Given the description of an element on the screen output the (x, y) to click on. 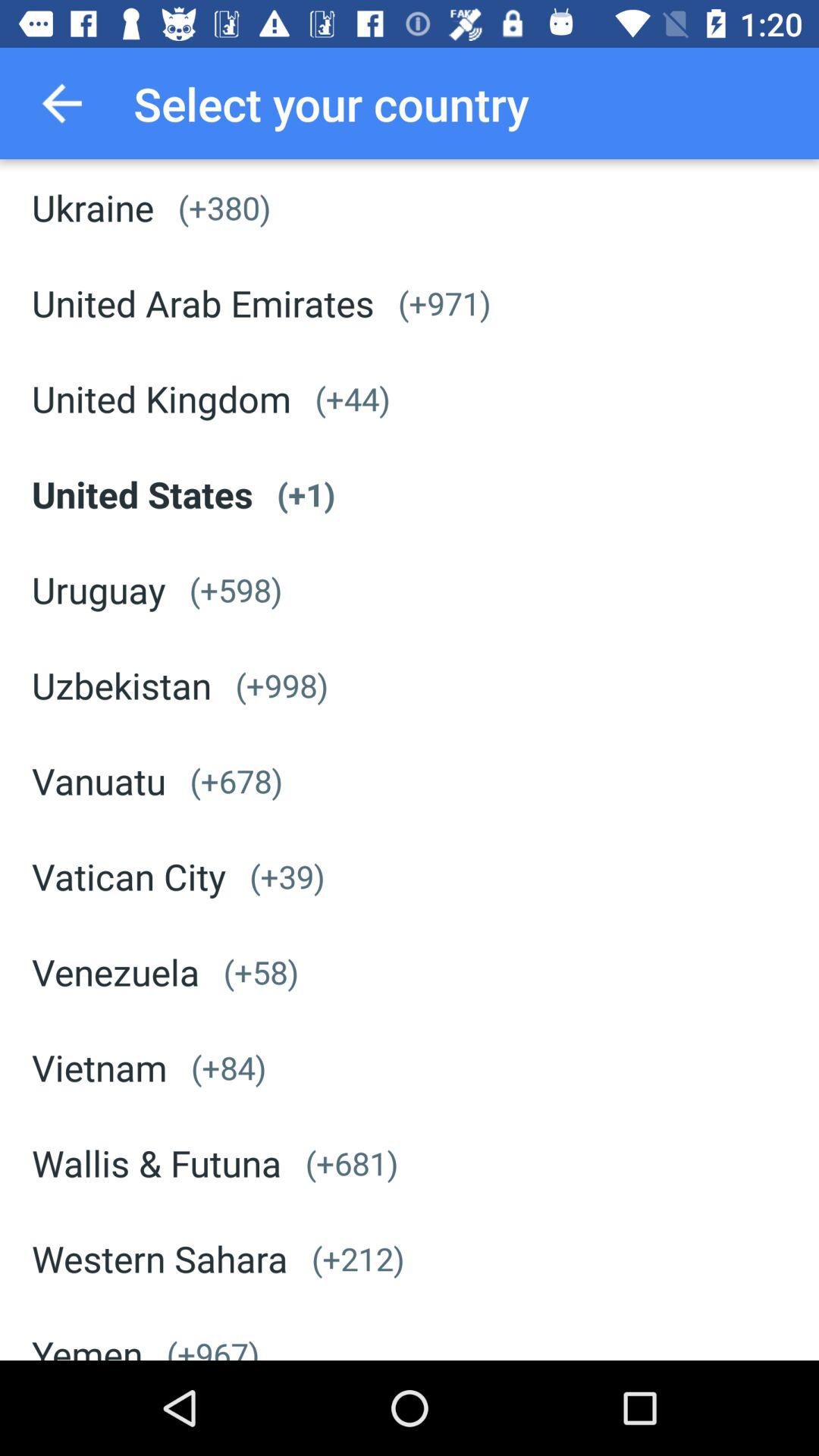
press the icon next to the venezuela icon (260, 971)
